Given the description of an element on the screen output the (x, y) to click on. 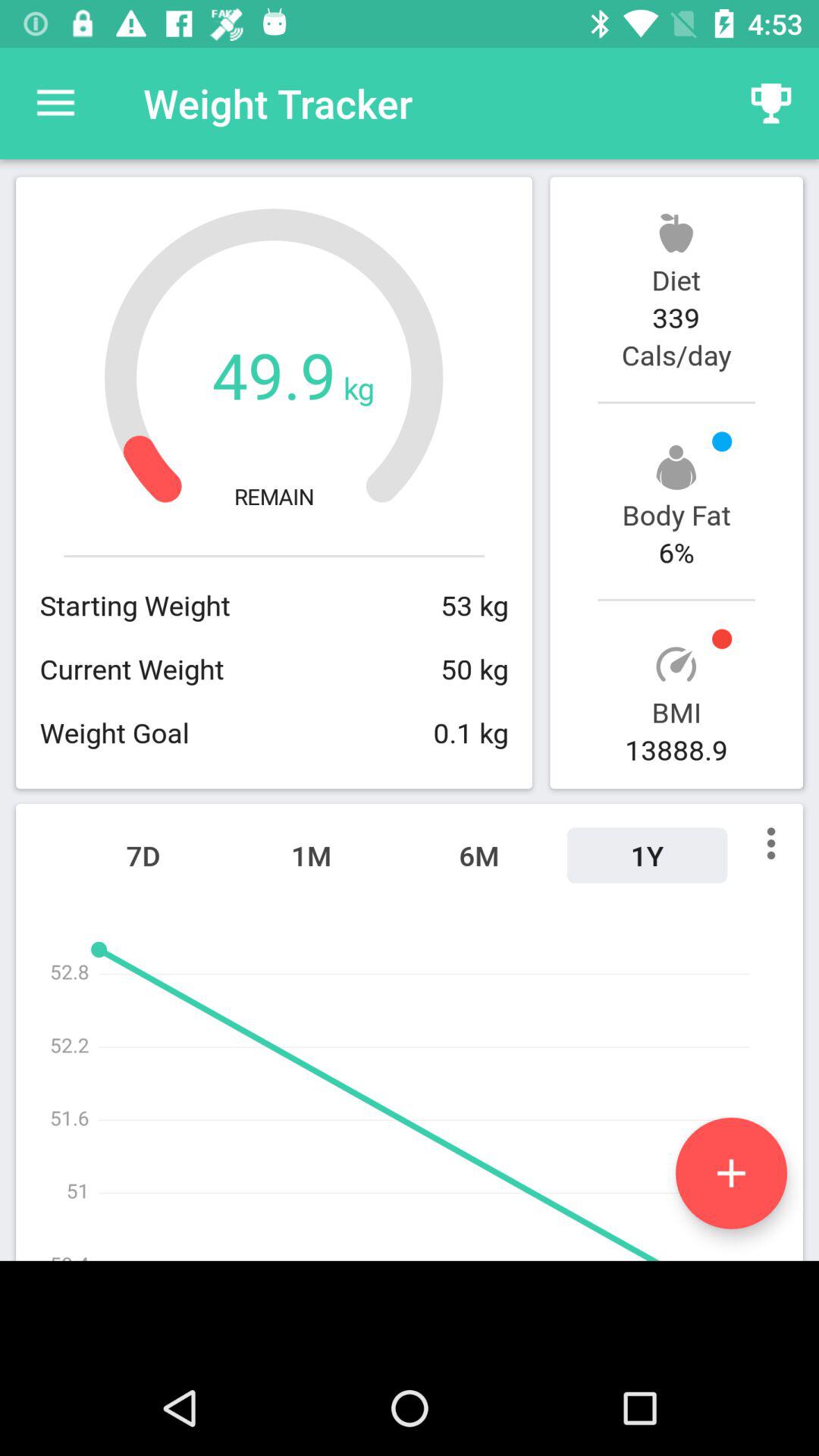
press item next to the 6m icon (311, 855)
